Given the description of an element on the screen output the (x, y) to click on. 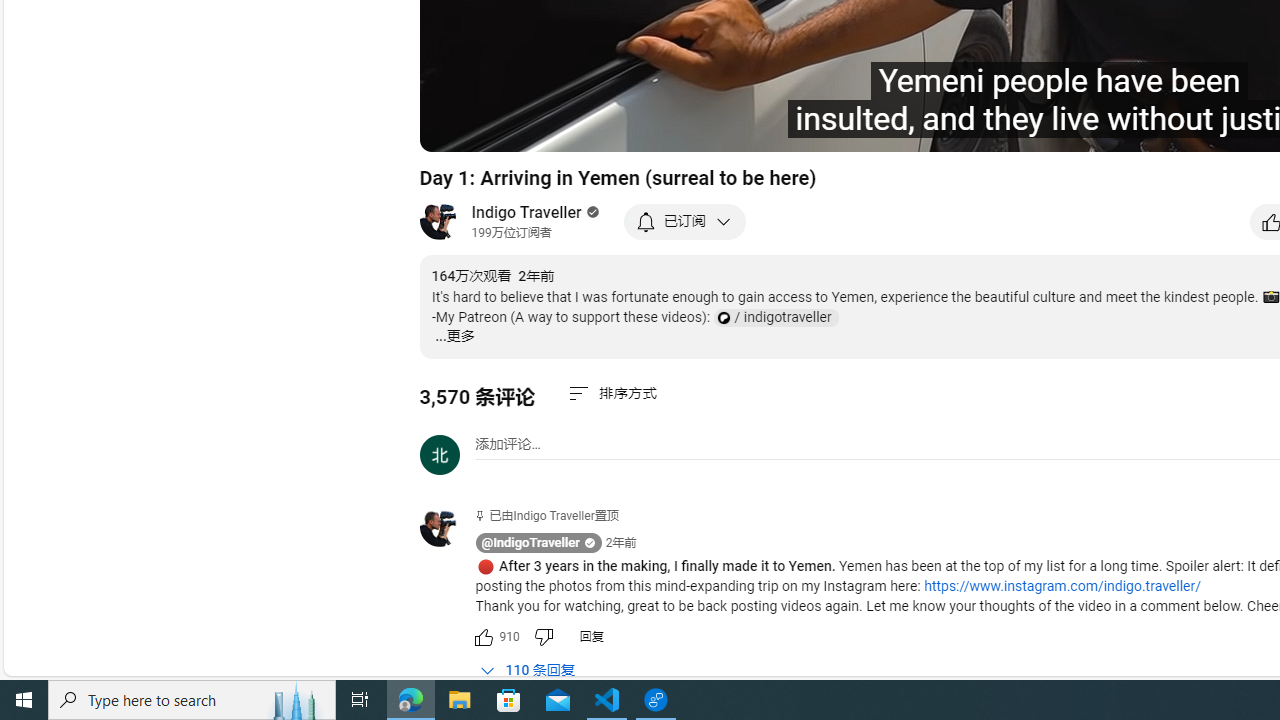
Indigo Traveller (527, 211)
Intro (683, 127)
